Given the description of an element on the screen output the (x, y) to click on. 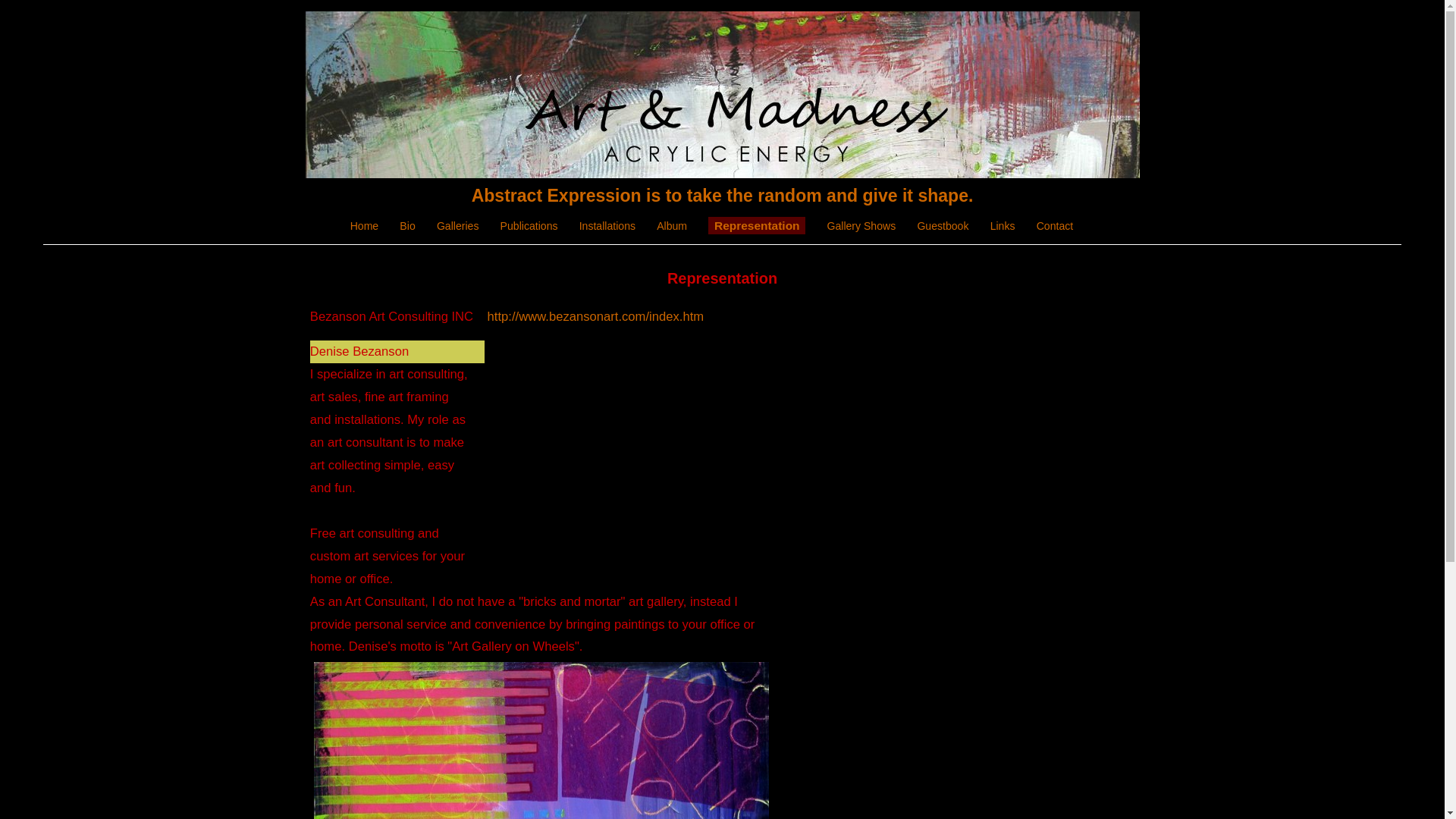
Guestbook (942, 225)
Contact (1055, 225)
Gallery Shows (861, 225)
Galleries (457, 225)
Bio (406, 225)
Links (1002, 225)
Abstract Expression is to take the random and give it shape. (722, 195)
Home (364, 225)
Representation (756, 225)
Installations (606, 225)
